Given the description of an element on the screen output the (x, y) to click on. 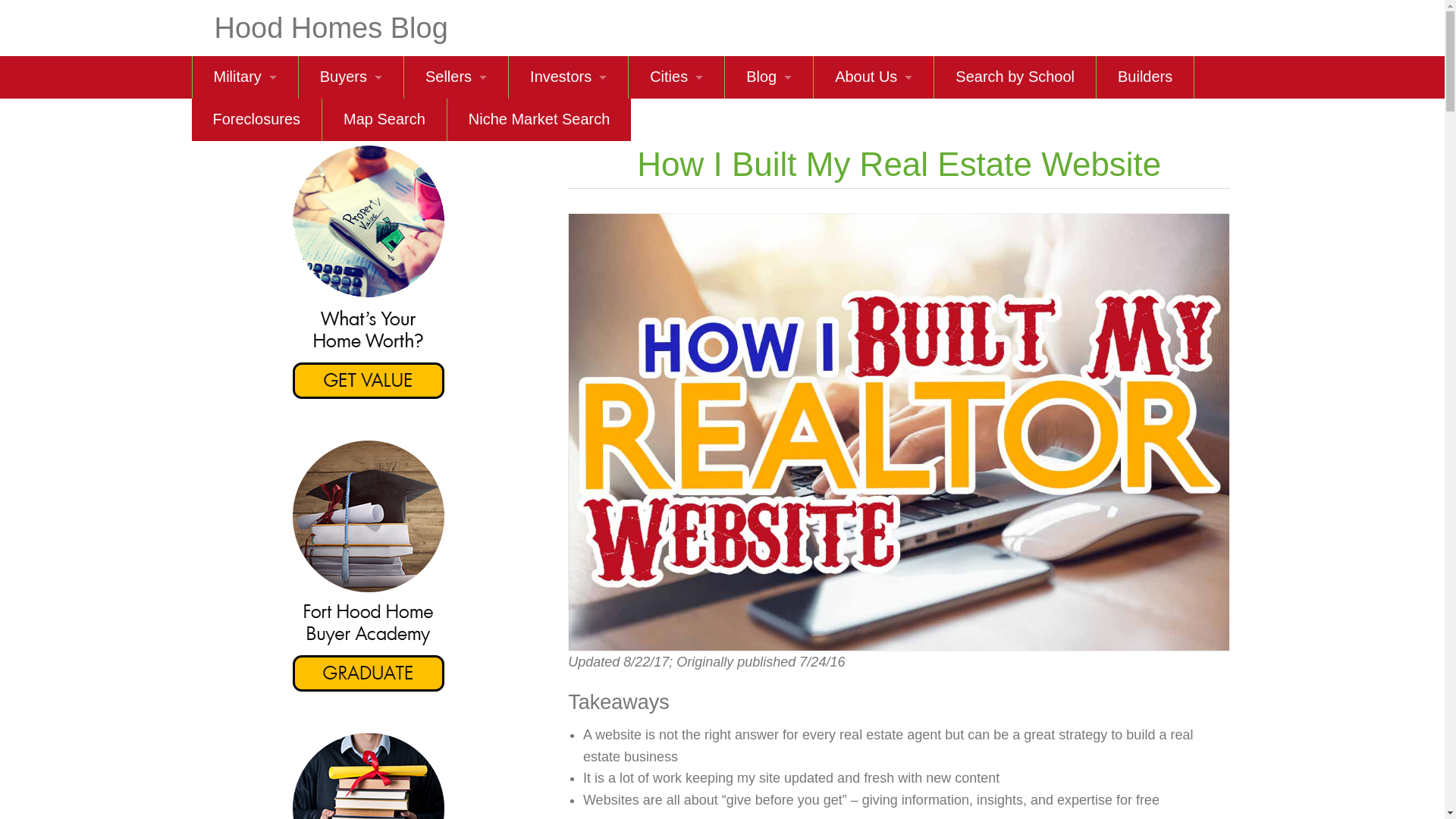
Investors (567, 77)
Killeen Investor MeetUp (567, 247)
Blog (768, 77)
How To Buy a Fort Hood Home (350, 119)
Buying Articles (350, 289)
Recommended Lenders (350, 204)
Killeen (675, 119)
Budgeting for a Mortgage (350, 247)
Guaranteed Quick Sale (456, 204)
Copperas Cove (675, 204)
Cities (675, 77)
Military (245, 77)
Explore Central Texas (675, 331)
Investing Articles (567, 331)
Map of Neighborhoods (675, 247)
